Given the description of an element on the screen output the (x, y) to click on. 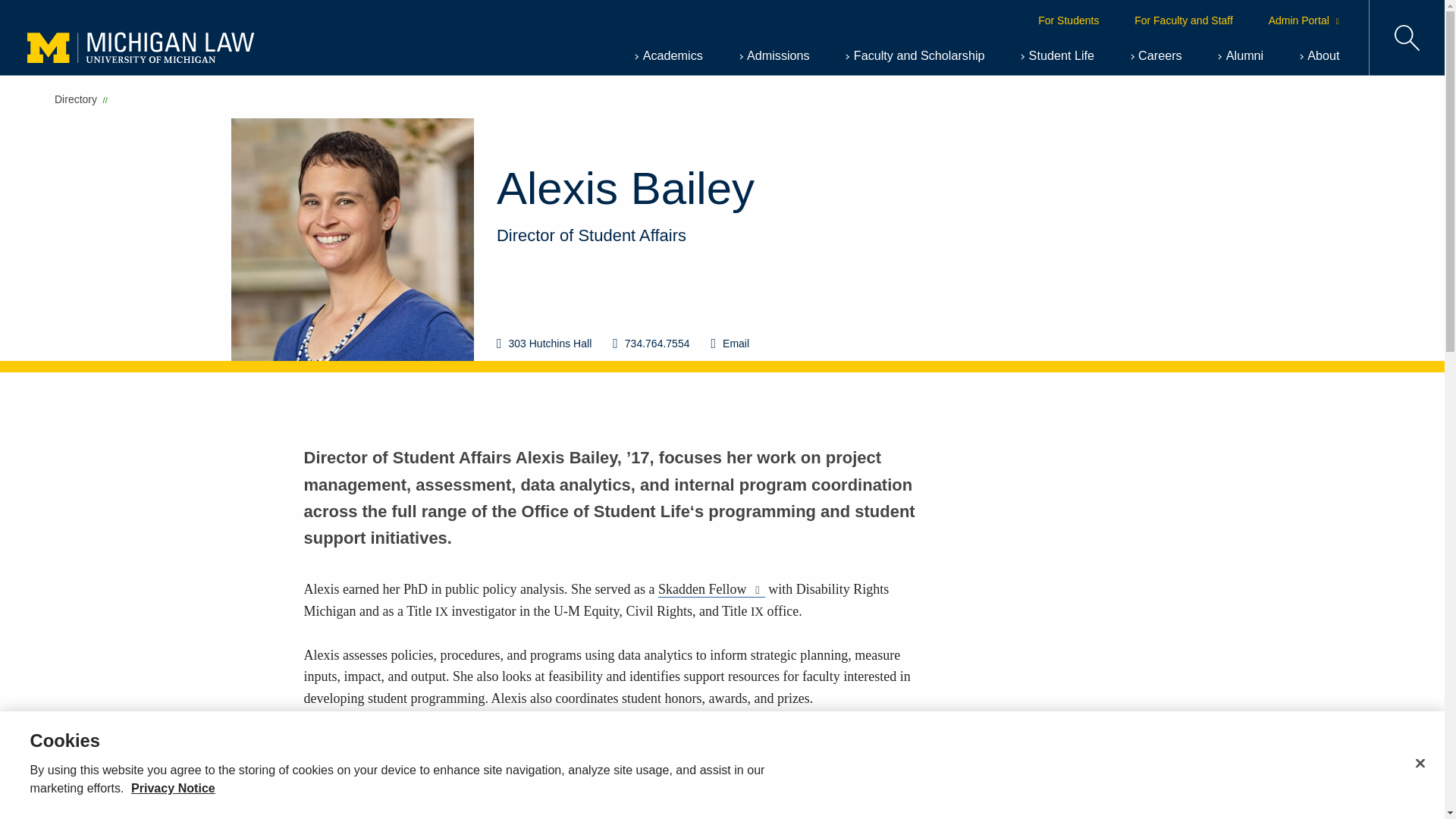
For Students (1068, 20)
For Faculty and Staff (1183, 20)
Admin Portal (1303, 20)
